Given the description of an element on the screen output the (x, y) to click on. 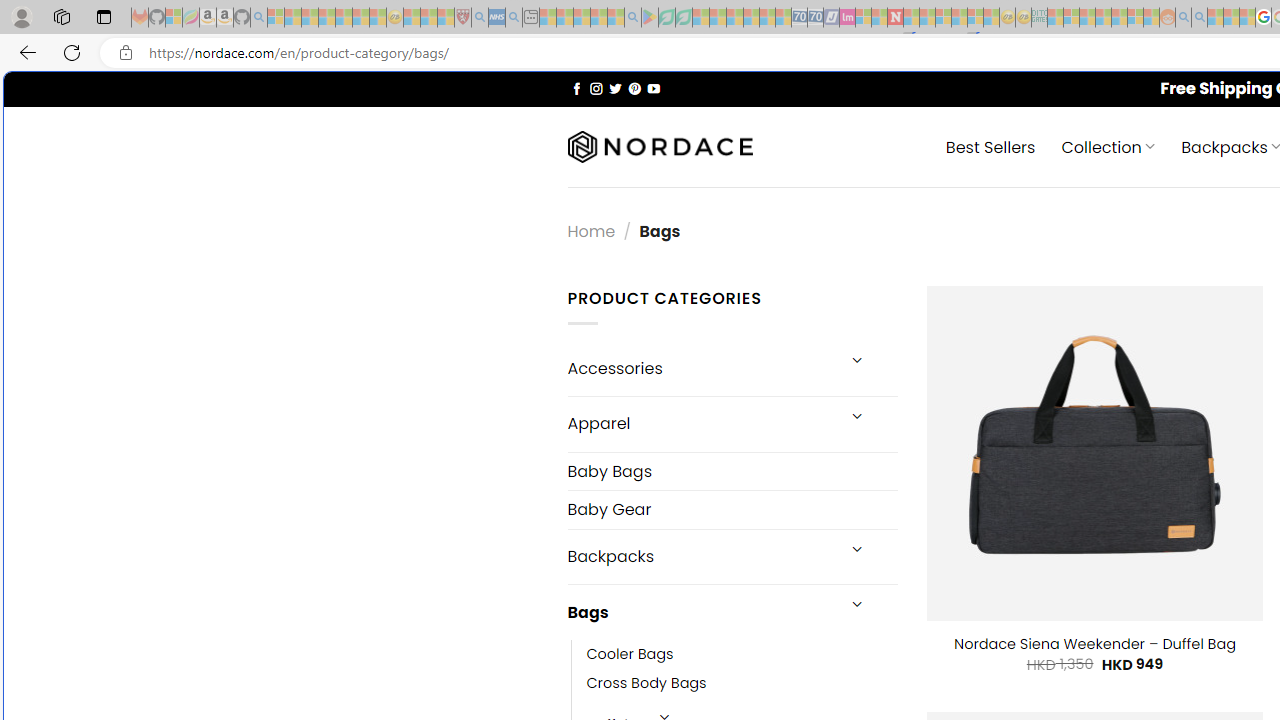
Baby Bags (732, 470)
 Best Sellers (989, 146)
Bags (700, 613)
